Given the description of an element on the screen output the (x, y) to click on. 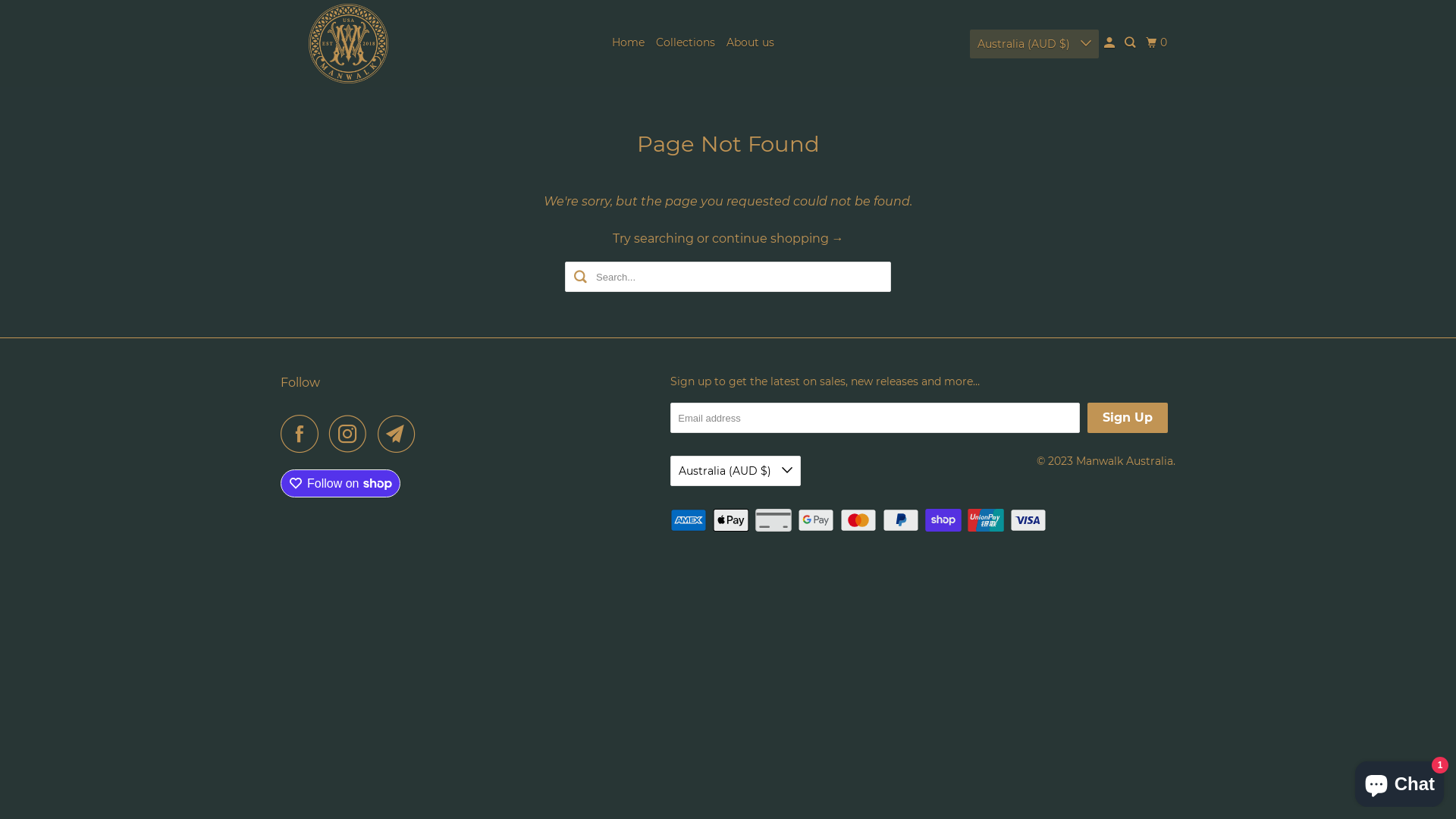
Manwalk Australia on Facebook Element type: hover (303, 433)
Home Element type: text (627, 41)
Manwalk Australia on Instagram Element type: hover (351, 433)
Australia (AUD $) Element type: text (735, 470)
Manwalk Australia Element type: text (1124, 460)
Email Manwalk Australia Element type: hover (400, 433)
Shopify online store chat Element type: hover (1399, 780)
Collections Element type: text (685, 41)
About us Element type: text (750, 41)
0 Element type: text (1157, 41)
My Account  Element type: hover (1110, 41)
Search Element type: hover (1130, 41)
Australia (AUD $) Element type: text (1033, 42)
Sign Up Element type: text (1127, 417)
Manwalk Australia Element type: hover (348, 43)
